Given the description of an element on the screen output the (x, y) to click on. 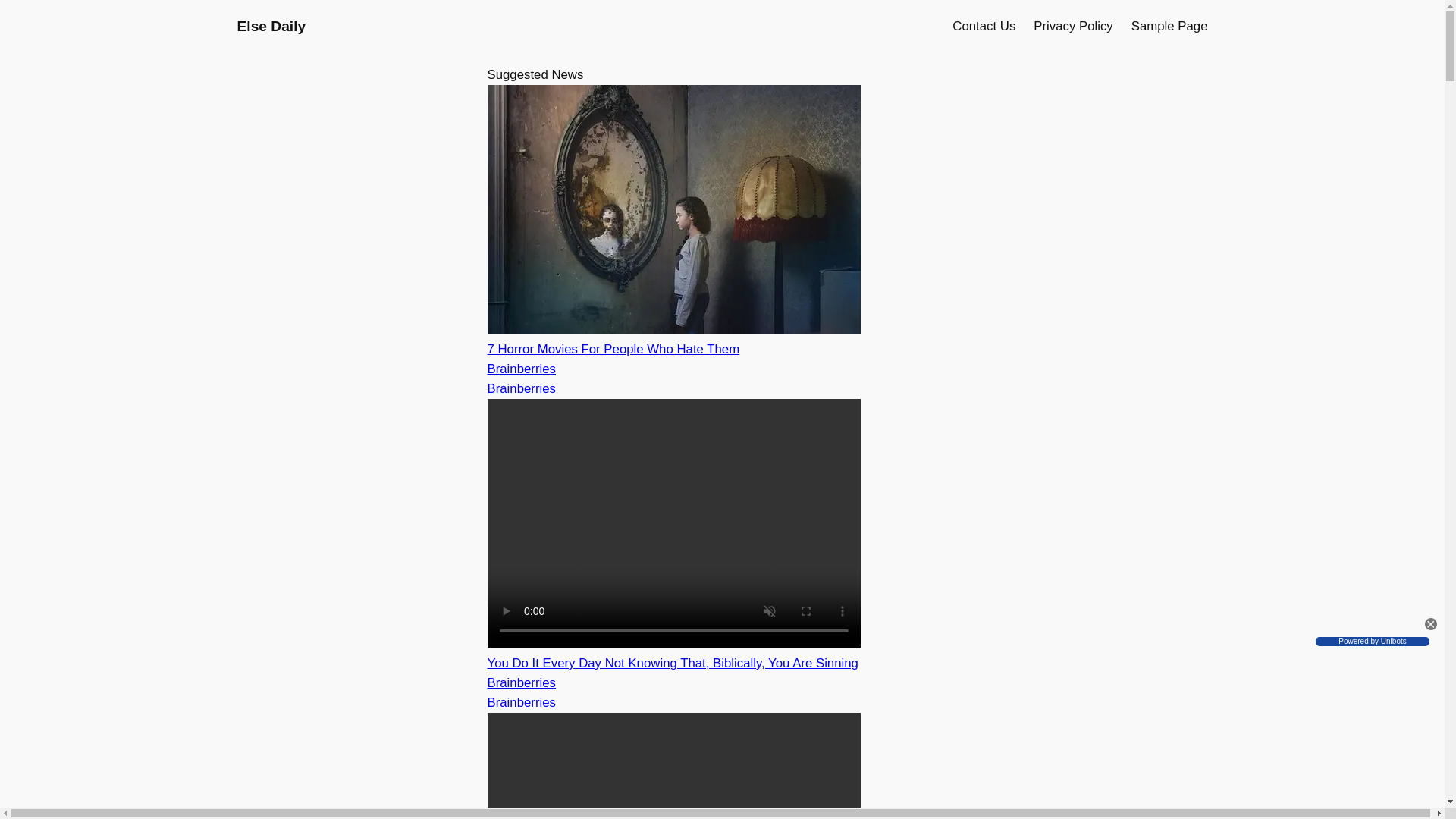
Privacy Policy (1072, 26)
Sample Page (1169, 26)
Contact Us (983, 26)
Else Daily (270, 26)
Powered by Unibots (1372, 641)
